Given the description of an element on the screen output the (x, y) to click on. 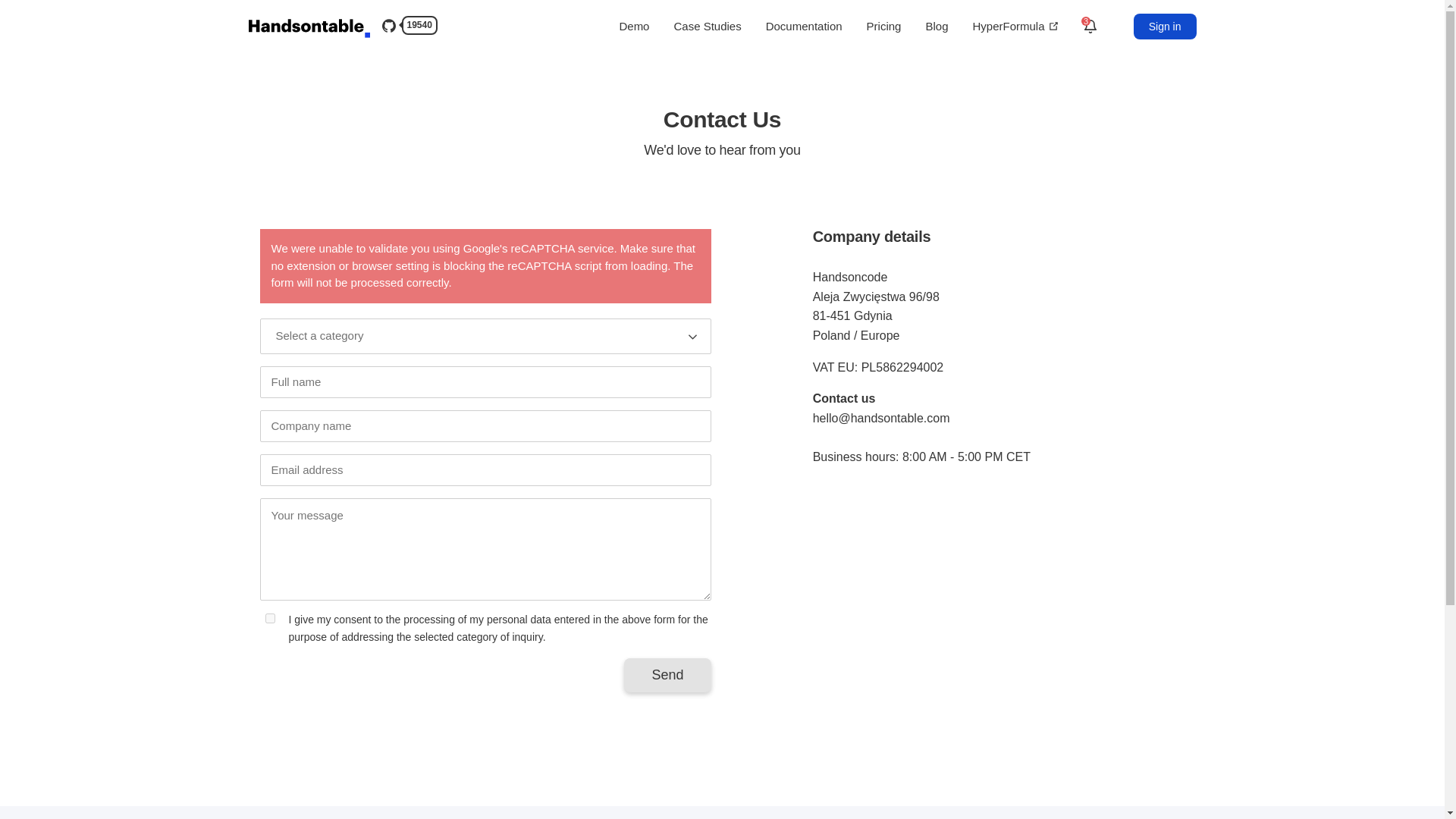
Pricing (883, 25)
Send (667, 675)
Sign in (1165, 26)
Documentation (804, 25)
HyperFormula (1015, 25)
Blog (935, 25)
Demo (633, 25)
Case Studies (706, 25)
Send (667, 675)
19540 (405, 28)
